Given the description of an element on the screen output the (x, y) to click on. 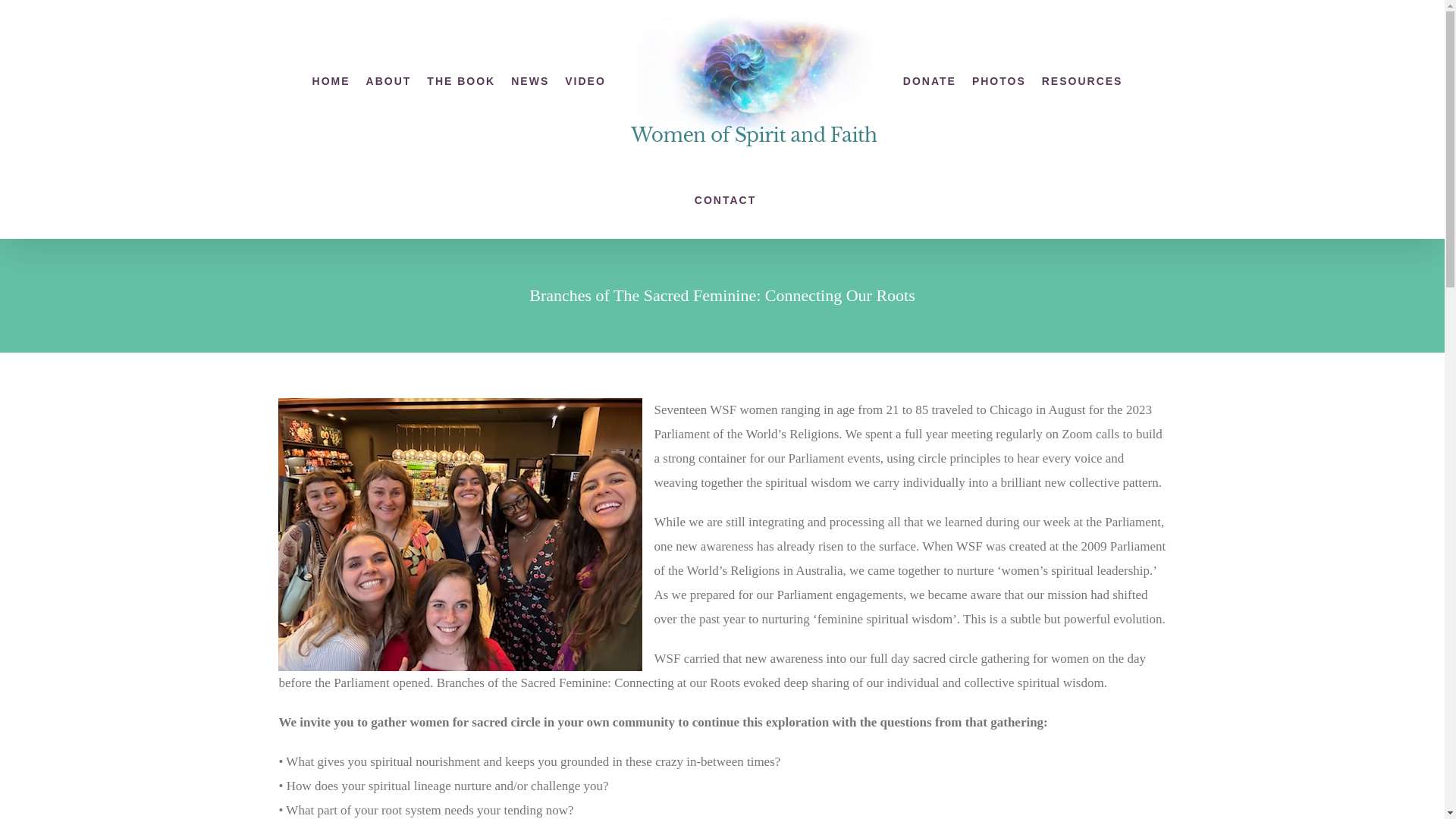
RESOURCES (1082, 80)
Accessibility Tools (19, 95)
Accessibility Tools (19, 95)
